Given the description of an element on the screen output the (x, y) to click on. 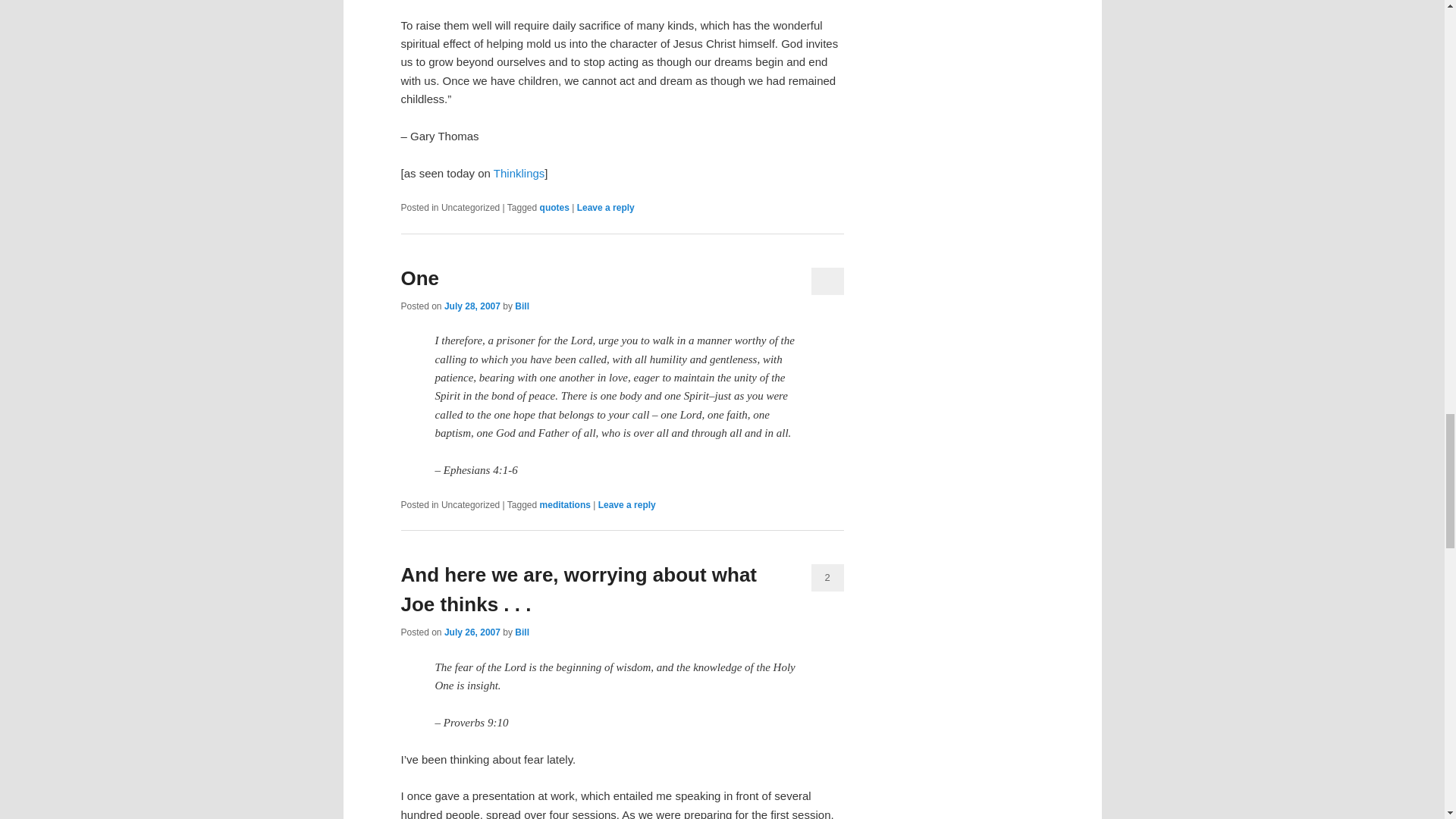
One (419, 277)
meditations (565, 504)
Bill (522, 306)
3:15 pm (472, 306)
6:09 pm (472, 632)
2 (827, 577)
Bill (522, 632)
July 26, 2007 (472, 632)
And here we are, worrying about what Joe thinks . . . (578, 589)
View all posts by Bill (522, 632)
quotes (554, 207)
July 28, 2007 (472, 306)
Leave a reply (605, 207)
Thinklings (518, 173)
View all posts by Bill (522, 306)
